Given the description of an element on the screen output the (x, y) to click on. 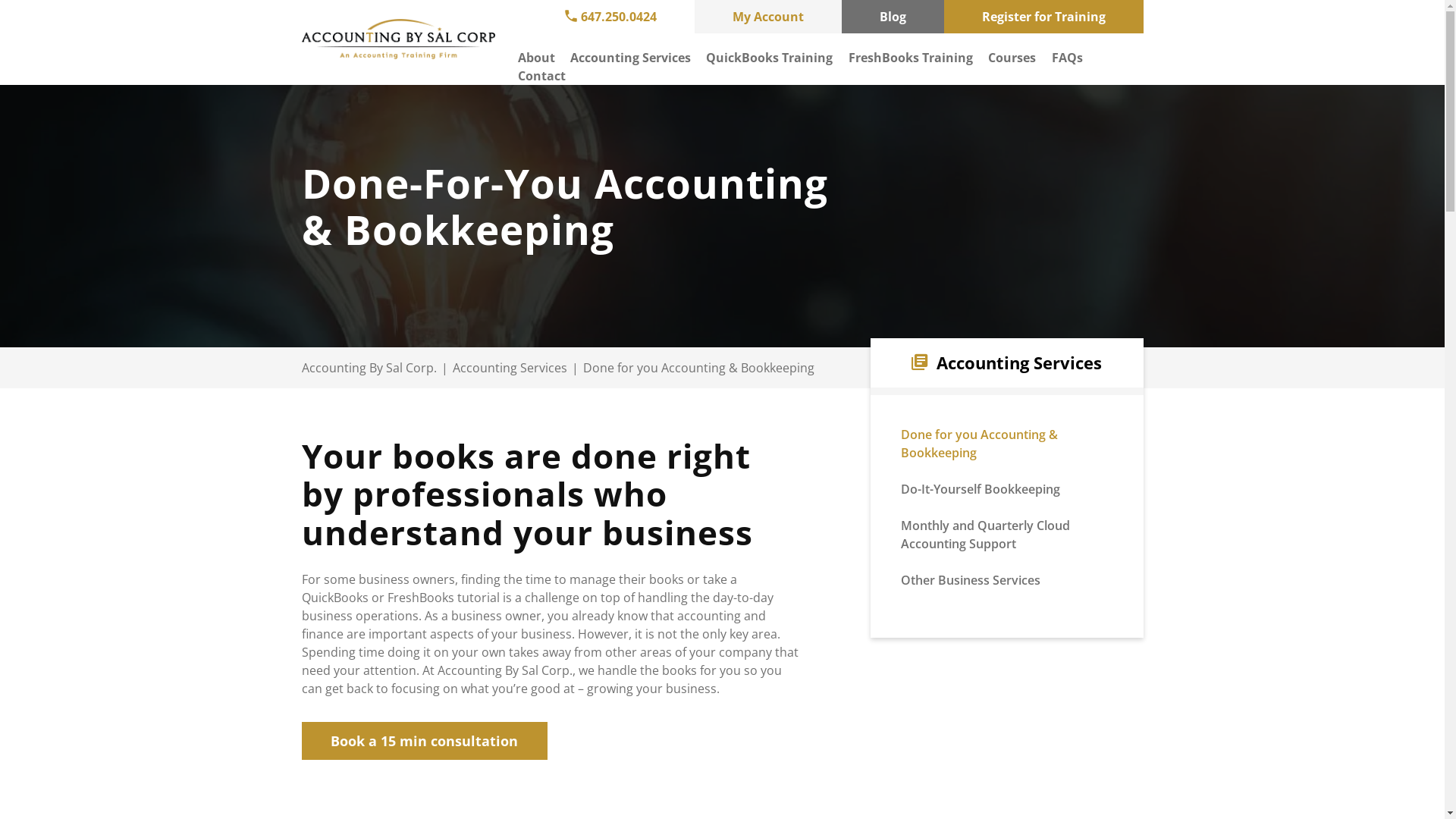
About Element type: text (535, 57)
FreshBooks Training Element type: text (910, 57)
Courses Element type: text (1011, 57)
Register for Training Element type: text (1042, 16)
Accounting Services Element type: text (630, 57)
Book a 15 min consultation Element type: text (424, 740)
FAQs Element type: text (1066, 57)
647.250.0424 Element type: text (609, 16)
Accounting By Sal Corp. Element type: text (368, 367)
QuickBooks Training Element type: text (769, 57)
Do-It-Yourself Bookkeeping Element type: text (980, 488)
Contact Element type: text (540, 75)
Done for you Accounting & Bookkeeping Element type: text (978, 443)
Accounting Services Element type: text (508, 367)
Blog Element type: text (892, 16)
Monthly and Quarterly Cloud Accounting Support Element type: text (985, 534)
Other Business Services Element type: text (970, 579)
My Account Element type: text (767, 16)
